Given the description of an element on the screen output the (x, y) to click on. 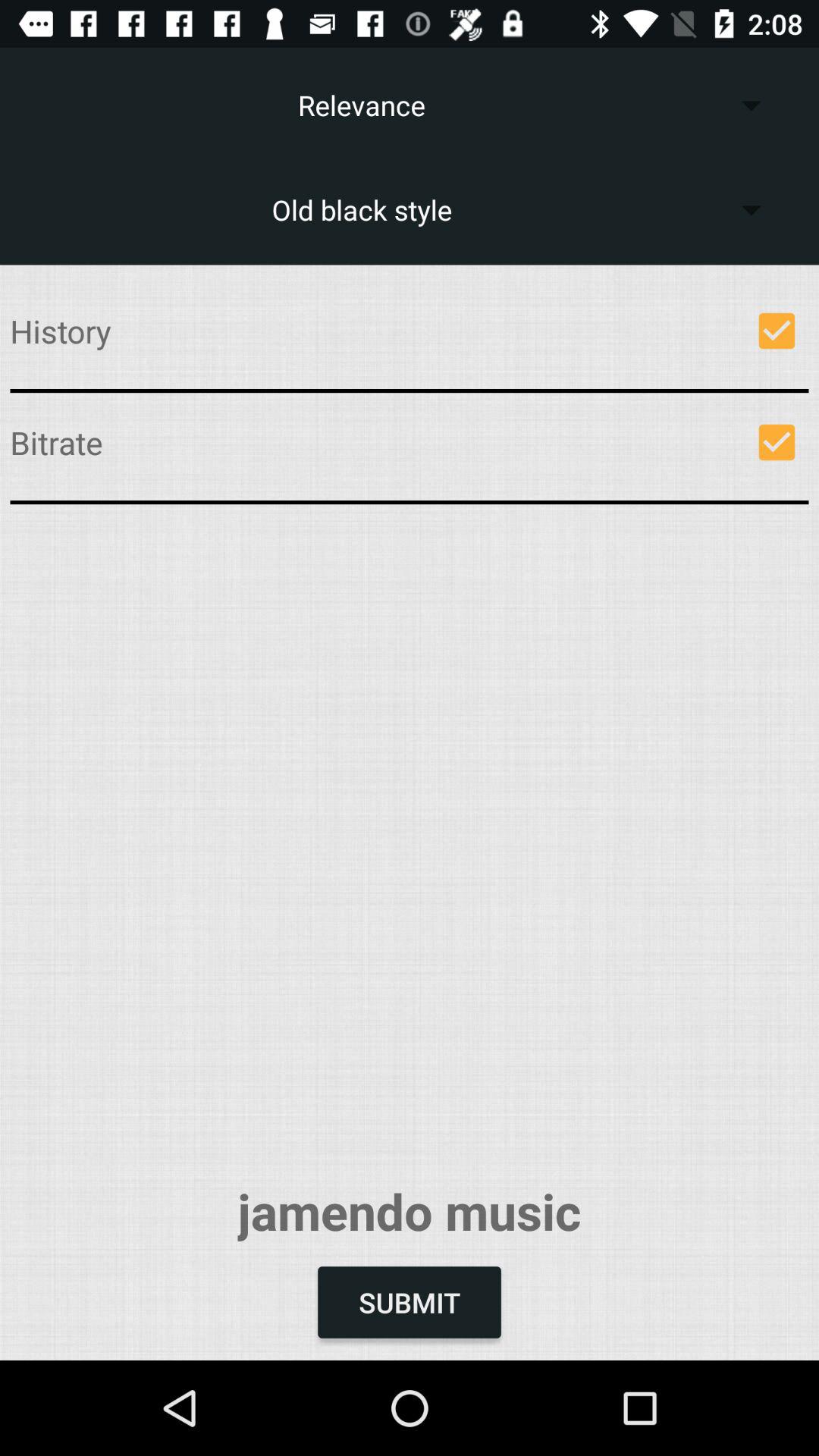
selected for do (776, 330)
